Given the description of an element on the screen output the (x, y) to click on. 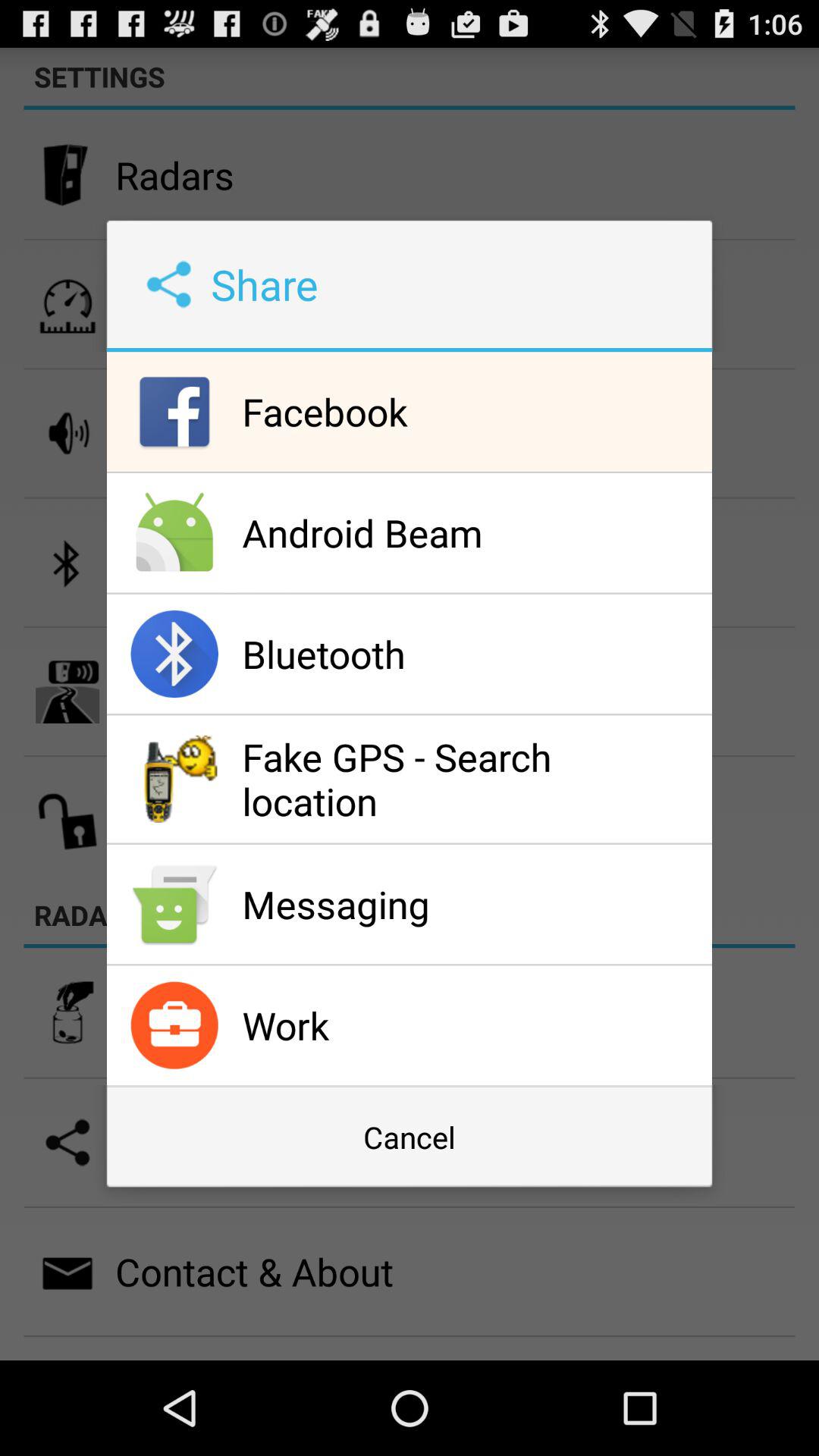
tap the bluetooth item (473, 653)
